Given the description of an element on the screen output the (x, y) to click on. 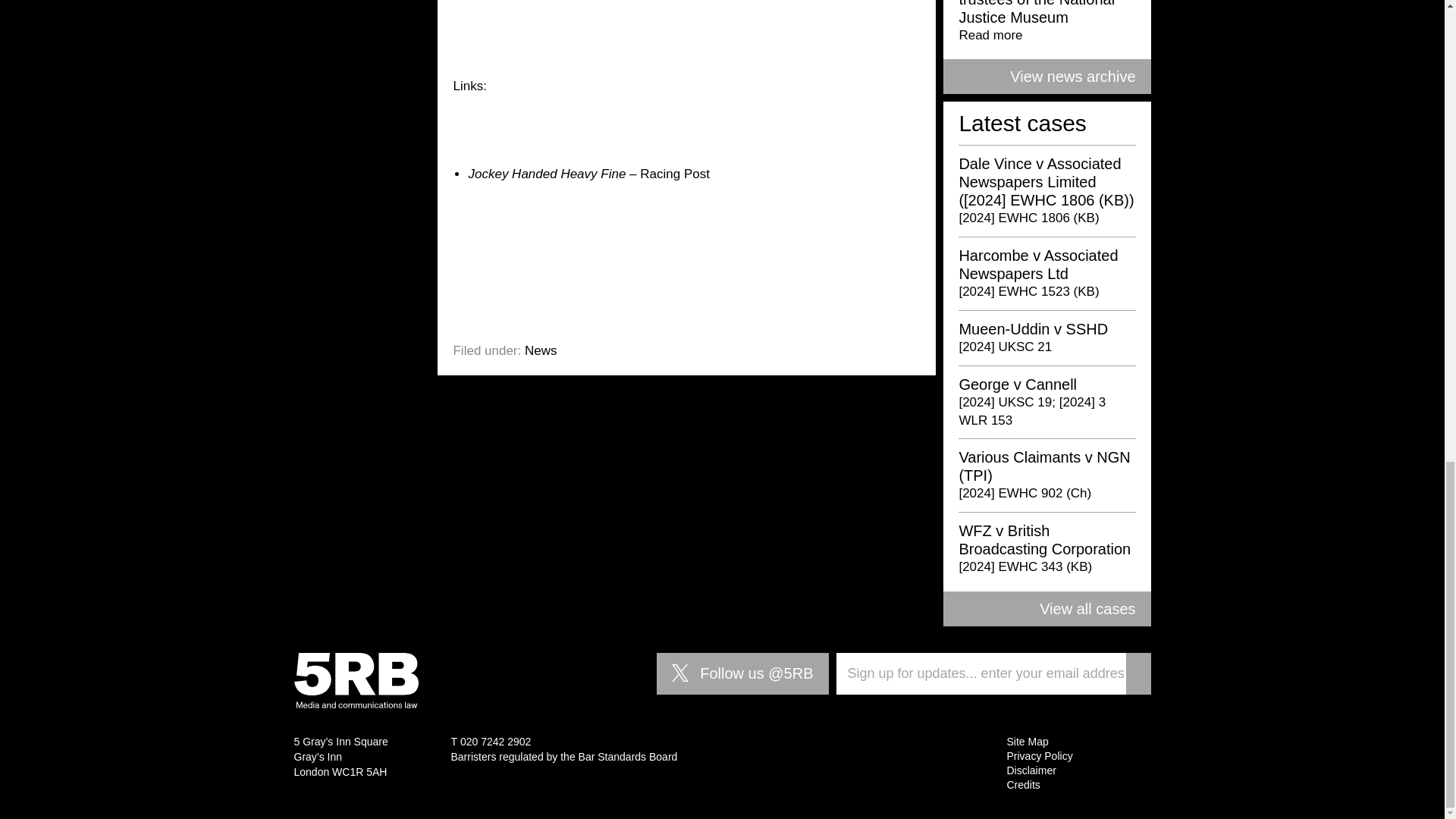
News (540, 350)
Jockey Handed Heavy Fine (546, 173)
